Given the description of an element on the screen output the (x, y) to click on. 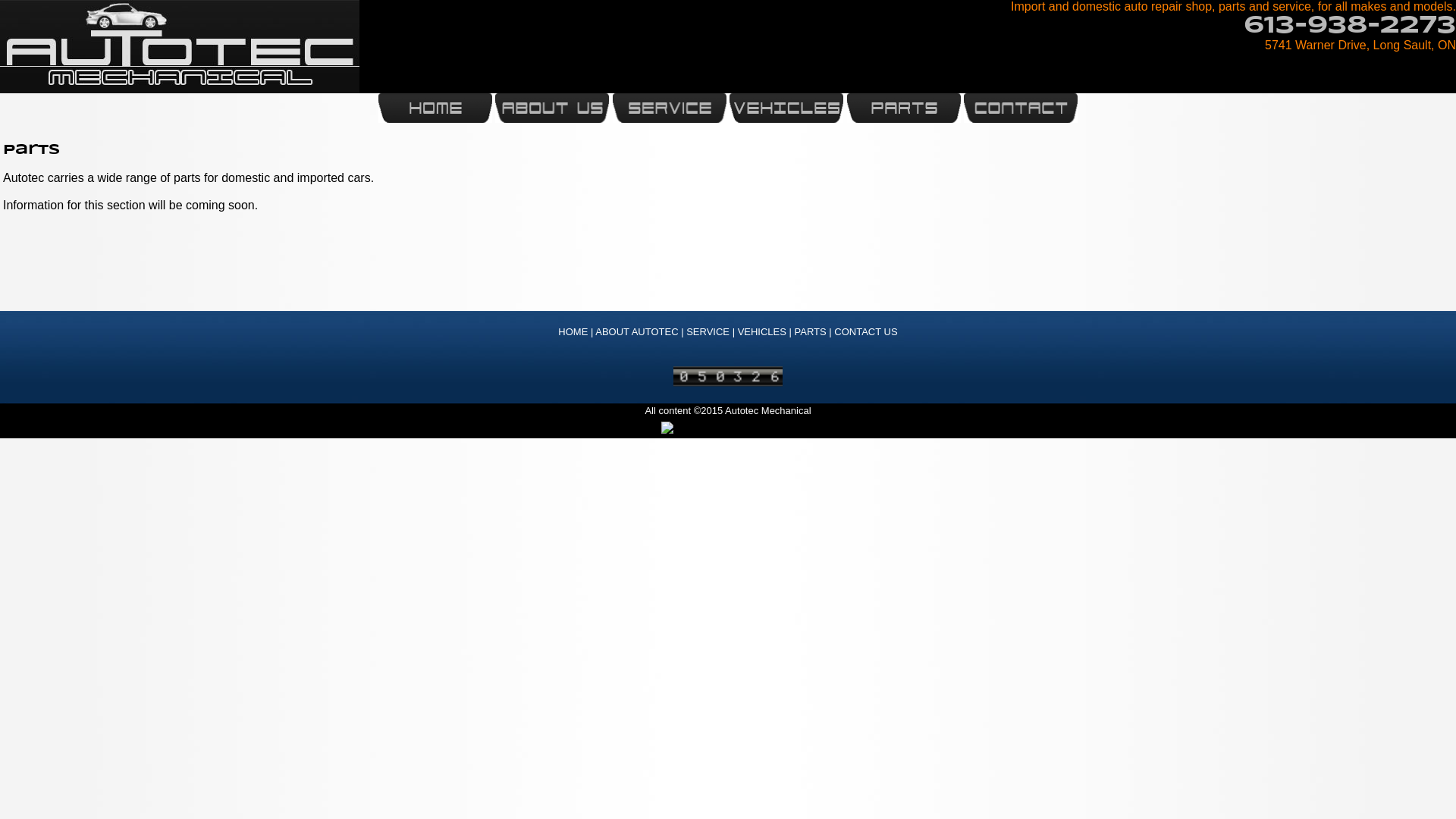
CONTACT US Element type: text (865, 331)
Click to see detail of visits and stats for this site Element type: hover (727, 375)
VEHICLES Element type: text (761, 331)
PARTS Element type: text (810, 331)
ABOUT AUTOTEC Element type: text (636, 331)
Responsive & Fast Websites by Webberman.ca Element type: hover (727, 427)
SERVICE Element type: text (707, 331)
HOME Element type: text (572, 331)
